Given the description of an element on the screen output the (x, y) to click on. 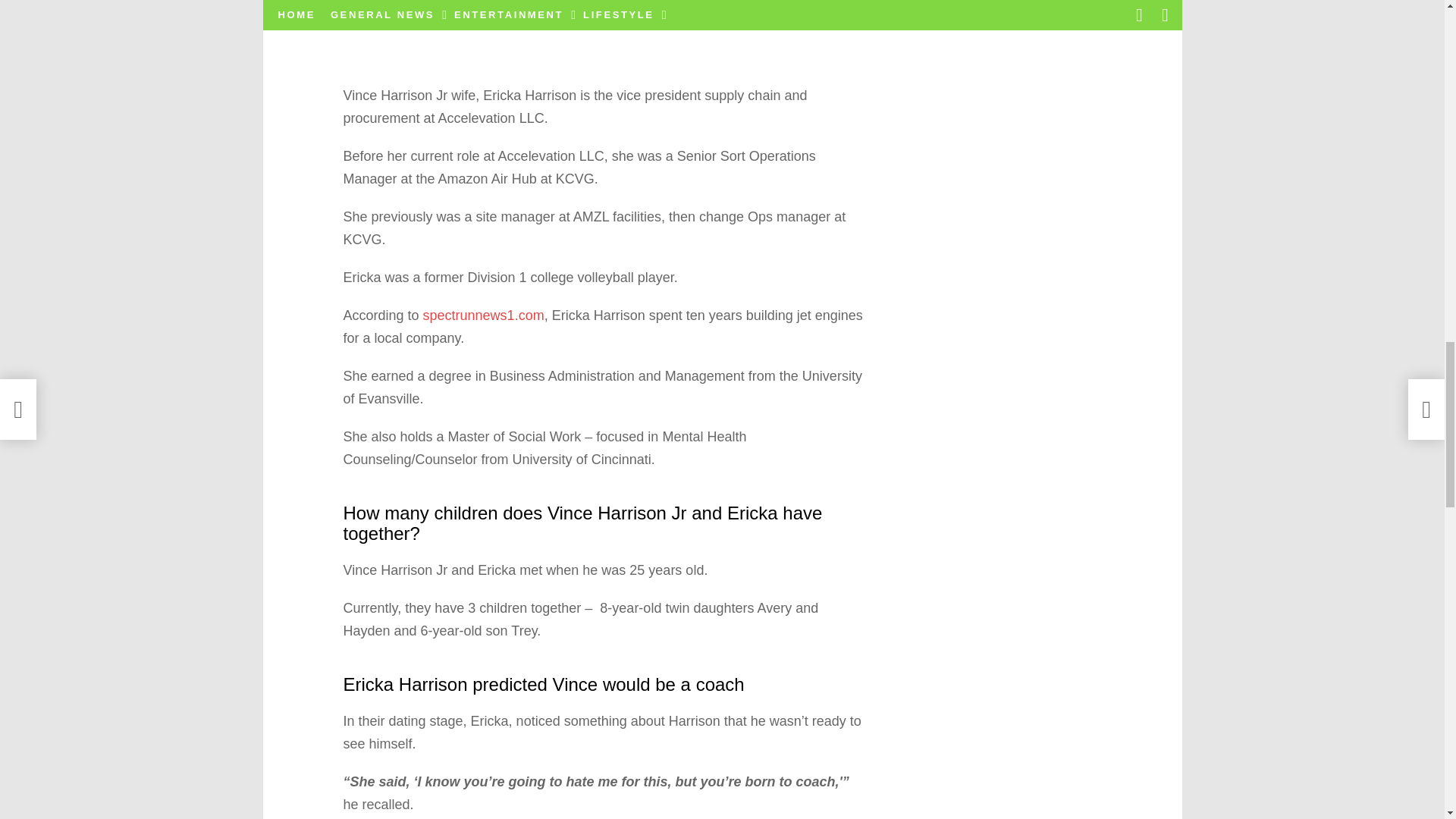
spectrunnews1.com (483, 314)
